Given the description of an element on the screen output the (x, y) to click on. 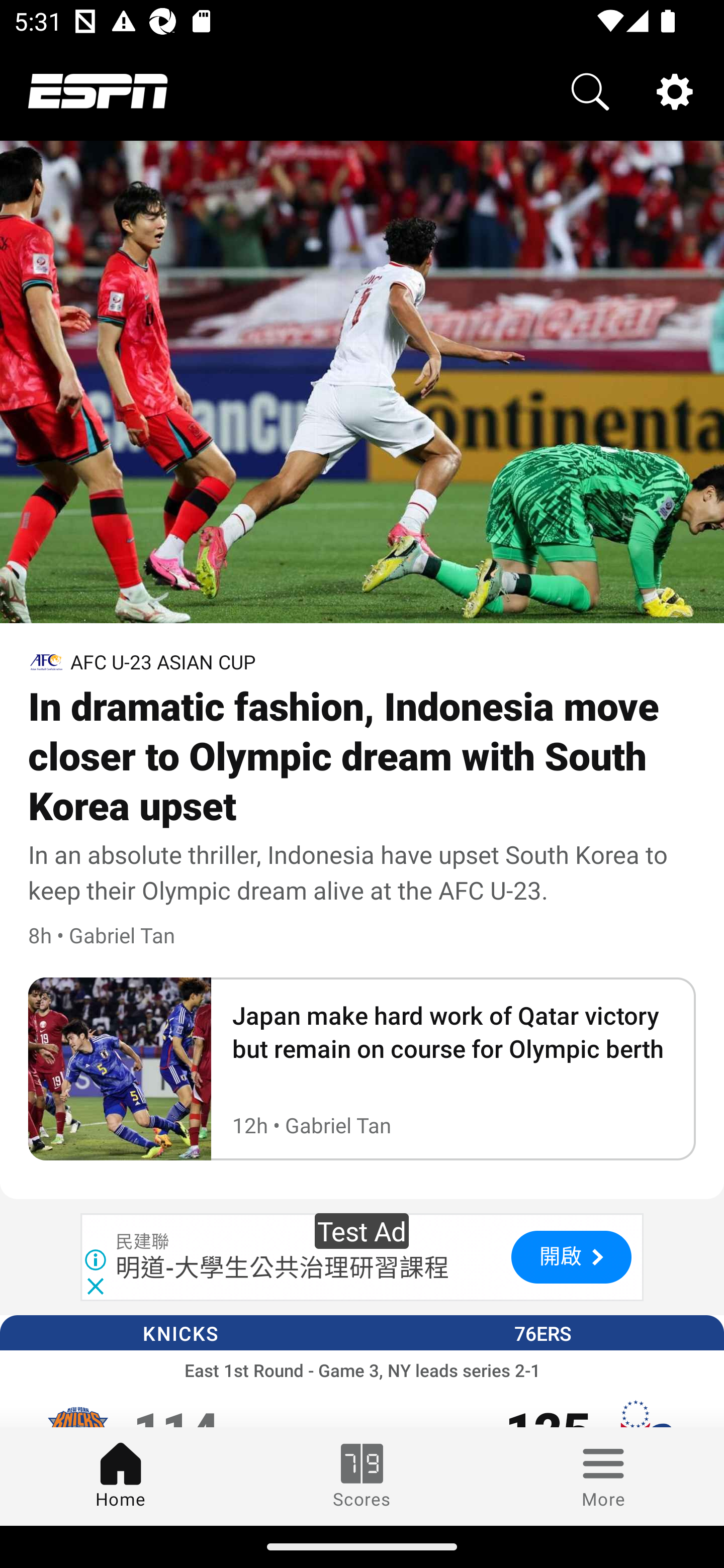
Search (590, 90)
Settings (674, 90)
Scores (361, 1475)
More (603, 1475)
